Given the description of an element on the screen output the (x, y) to click on. 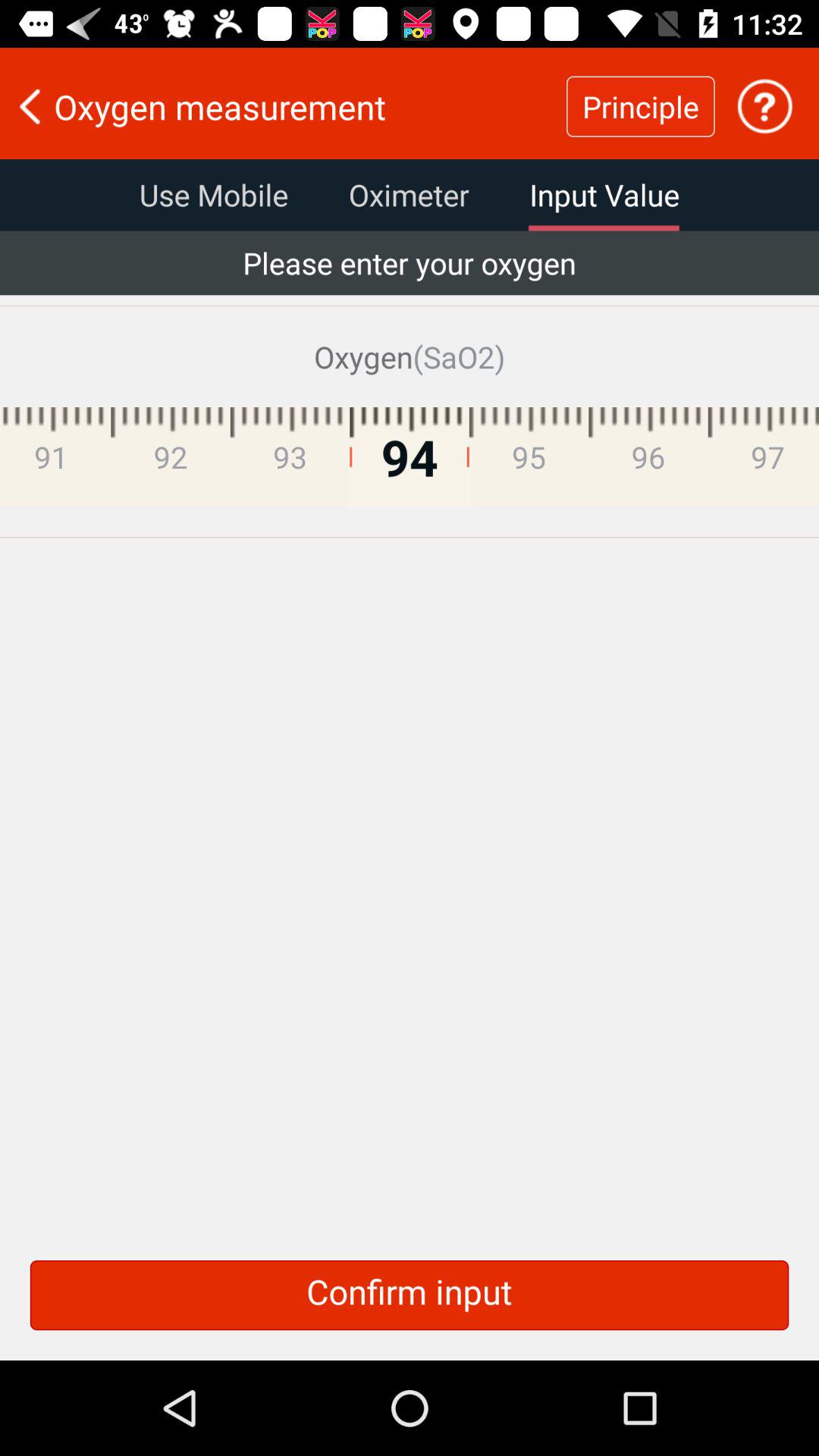
jump to use mobile item (213, 194)
